Given the description of an element on the screen output the (x, y) to click on. 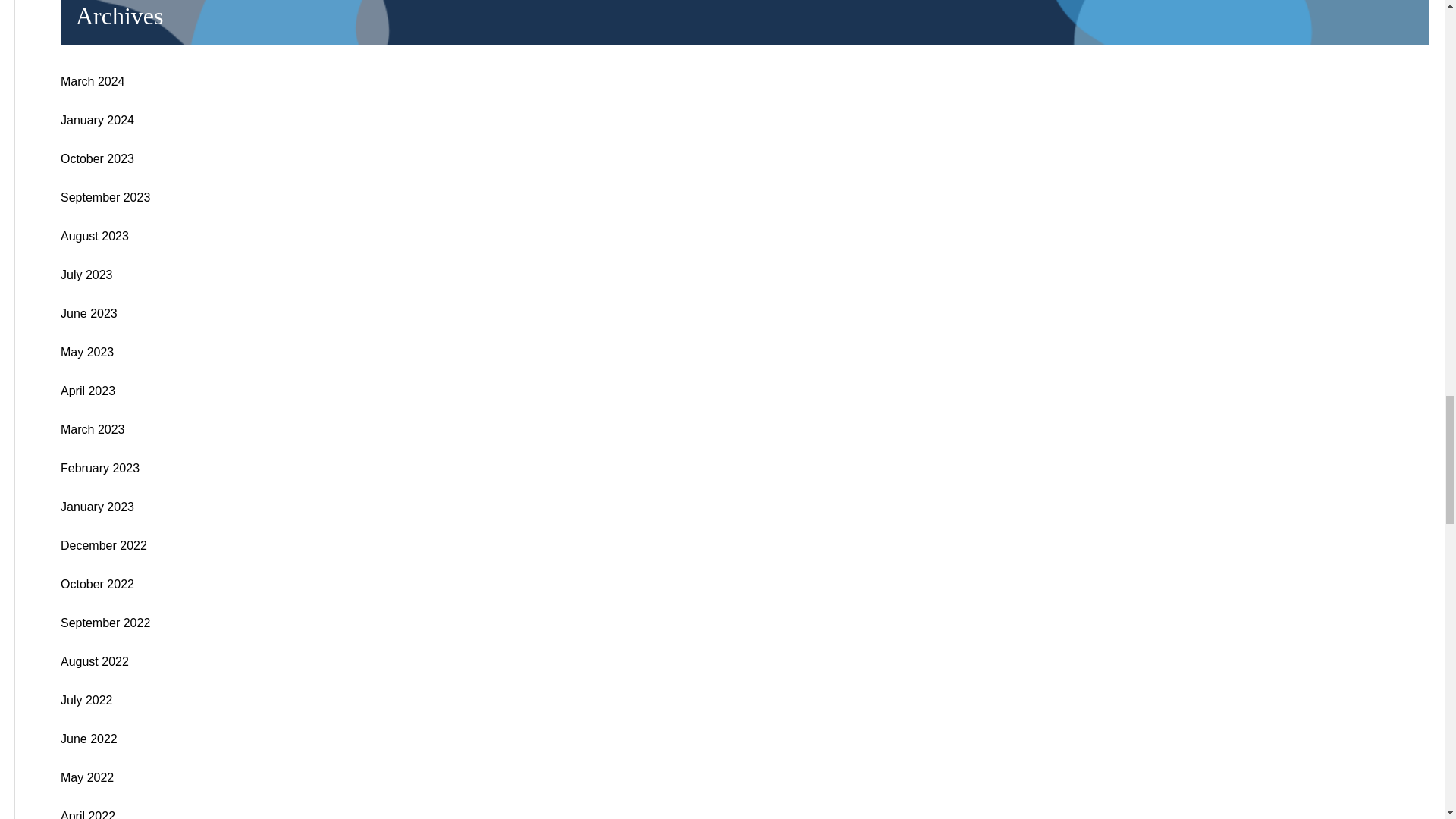
May 2023 (87, 351)
September 2023 (105, 196)
July 2023 (87, 274)
June 2023 (89, 313)
April 2023 (88, 390)
March 2024 (93, 81)
October 2023 (97, 158)
March 2023 (93, 429)
February 2023 (100, 468)
August 2023 (95, 236)
January 2024 (97, 119)
